Given the description of an element on the screen output the (x, y) to click on. 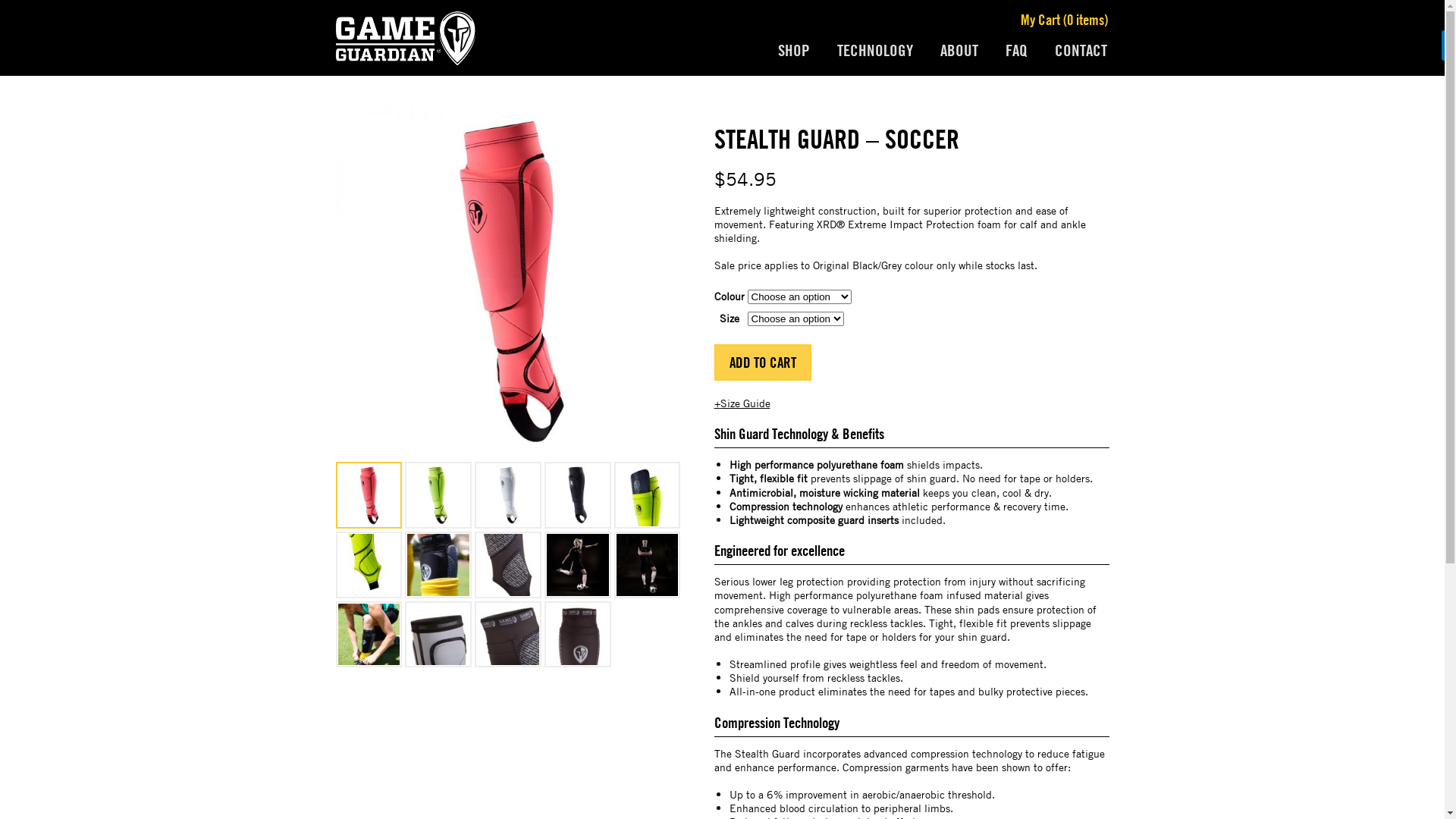
My Cart (0 items) Element type: text (1064, 19)
SHOP Element type: text (793, 50)
ABOUT Element type: text (959, 50)
CONTACT Element type: text (1080, 50)
Game Guardian Element type: text (404, 38)
FAQ Element type: text (1016, 50)
Size Guide Element type: text (742, 402)
Stealth Shin Guard Soccer Electric Pink Element type: hover (509, 280)
TECHNOLOGY Element type: text (875, 50)
ADD TO CART Element type: text (762, 362)
